Given the description of an element on the screen output the (x, y) to click on. 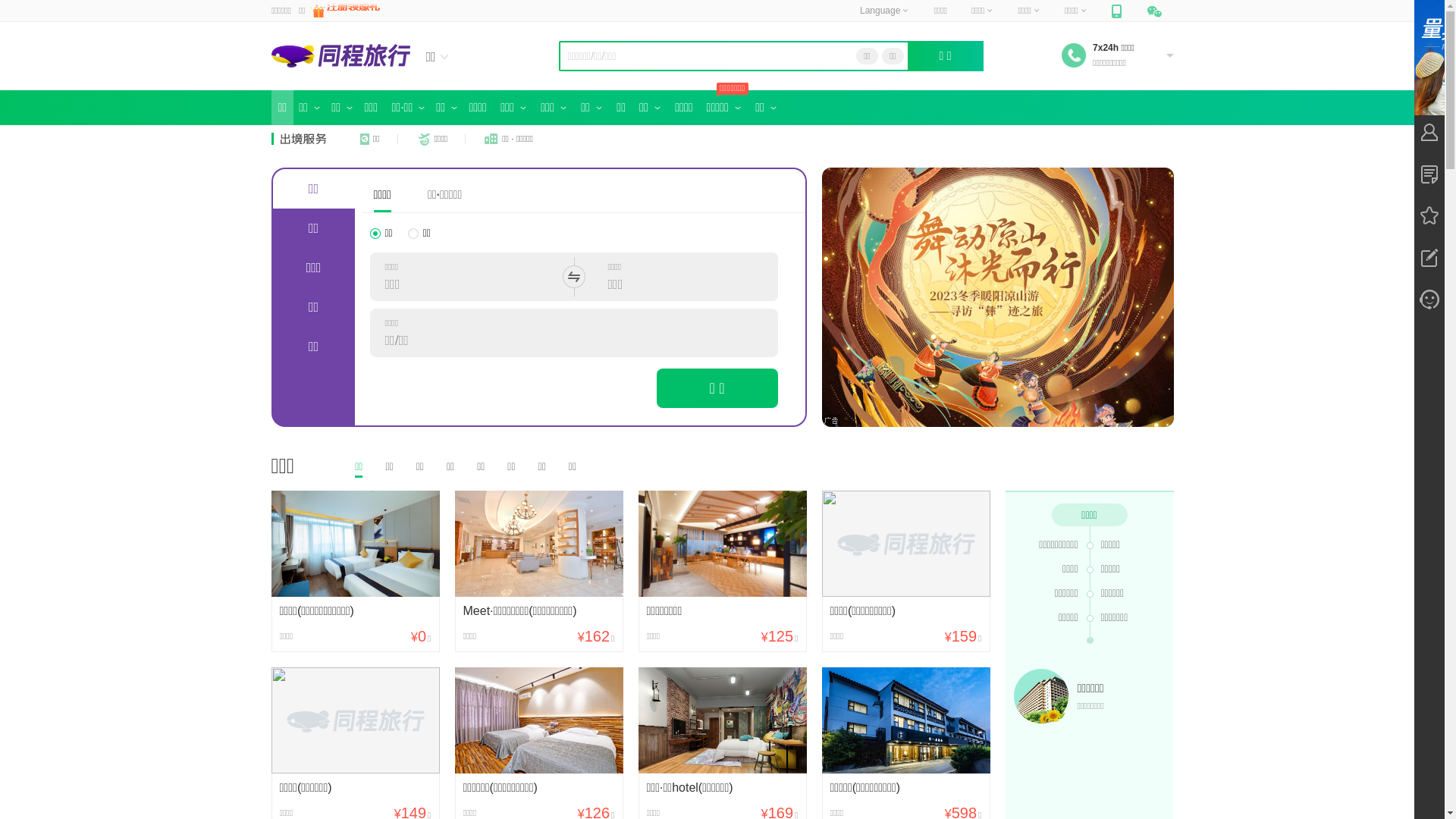
Language Element type: text (884, 10)
